Given the description of an element on the screen output the (x, y) to click on. 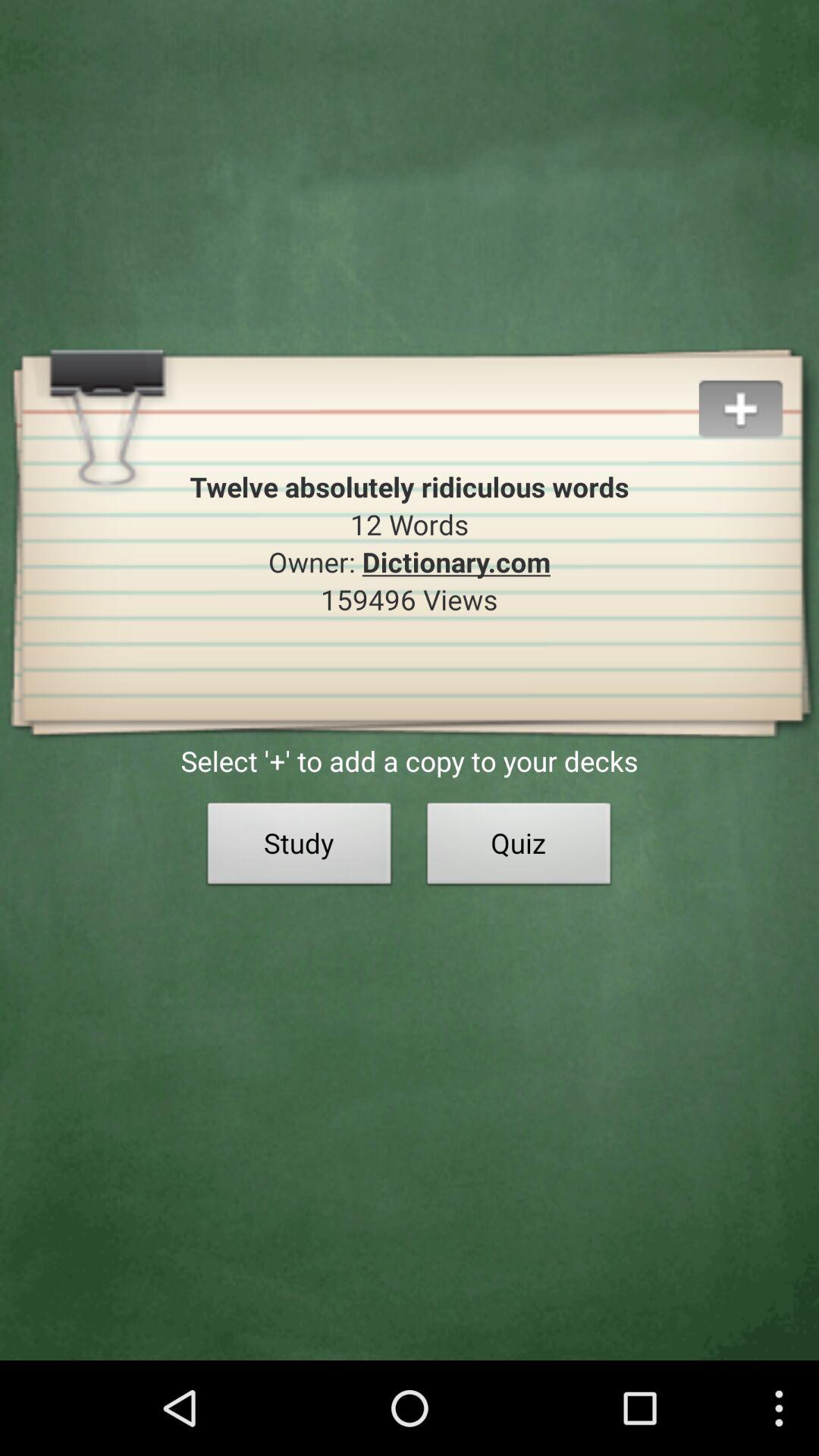
create new flashcard (758, 391)
